Given the description of an element on the screen output the (x, y) to click on. 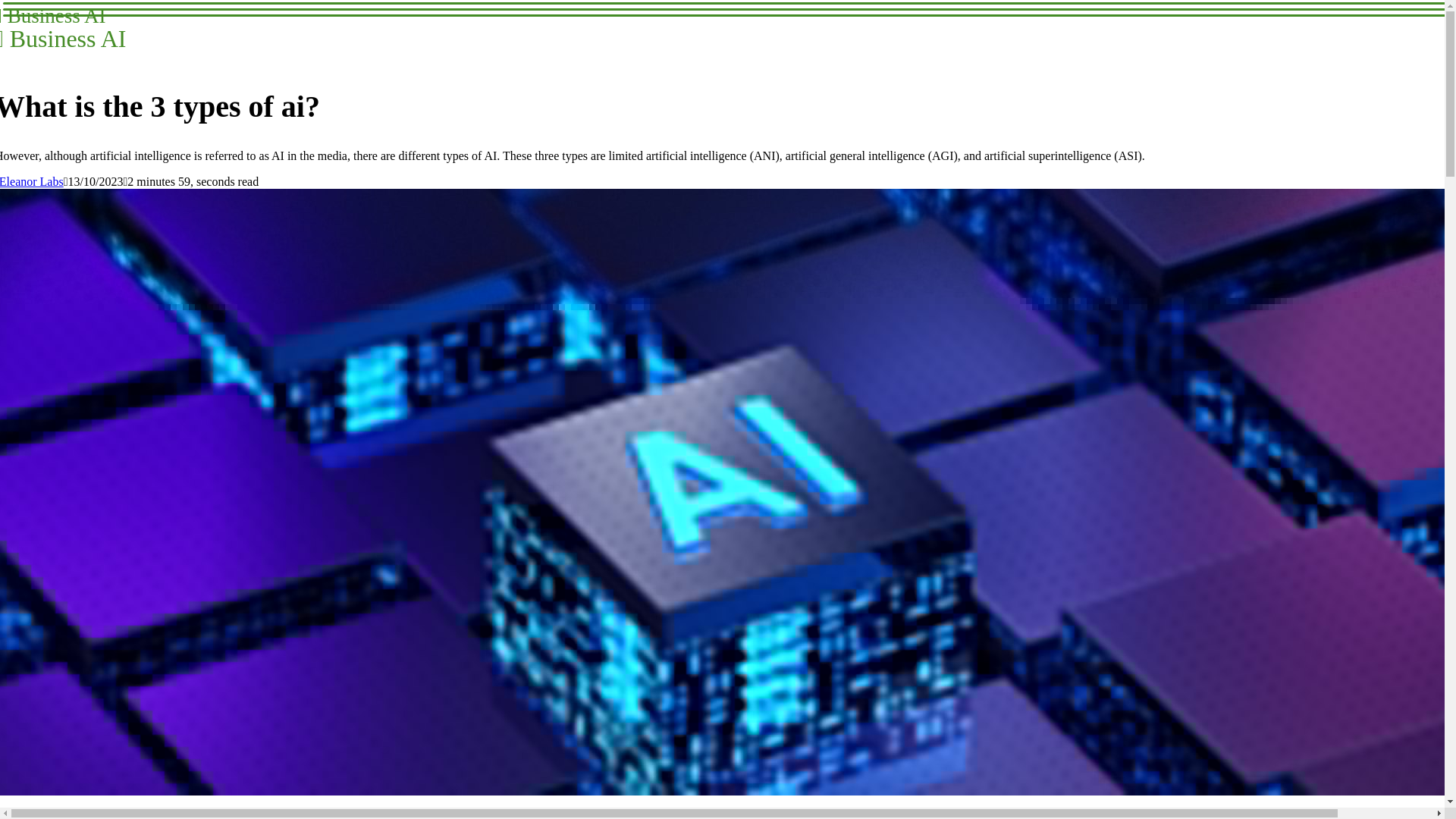
Eleanor Labs (32, 181)
Posts by Eleanor Labs (62, 27)
